Given the description of an element on the screen output the (x, y) to click on. 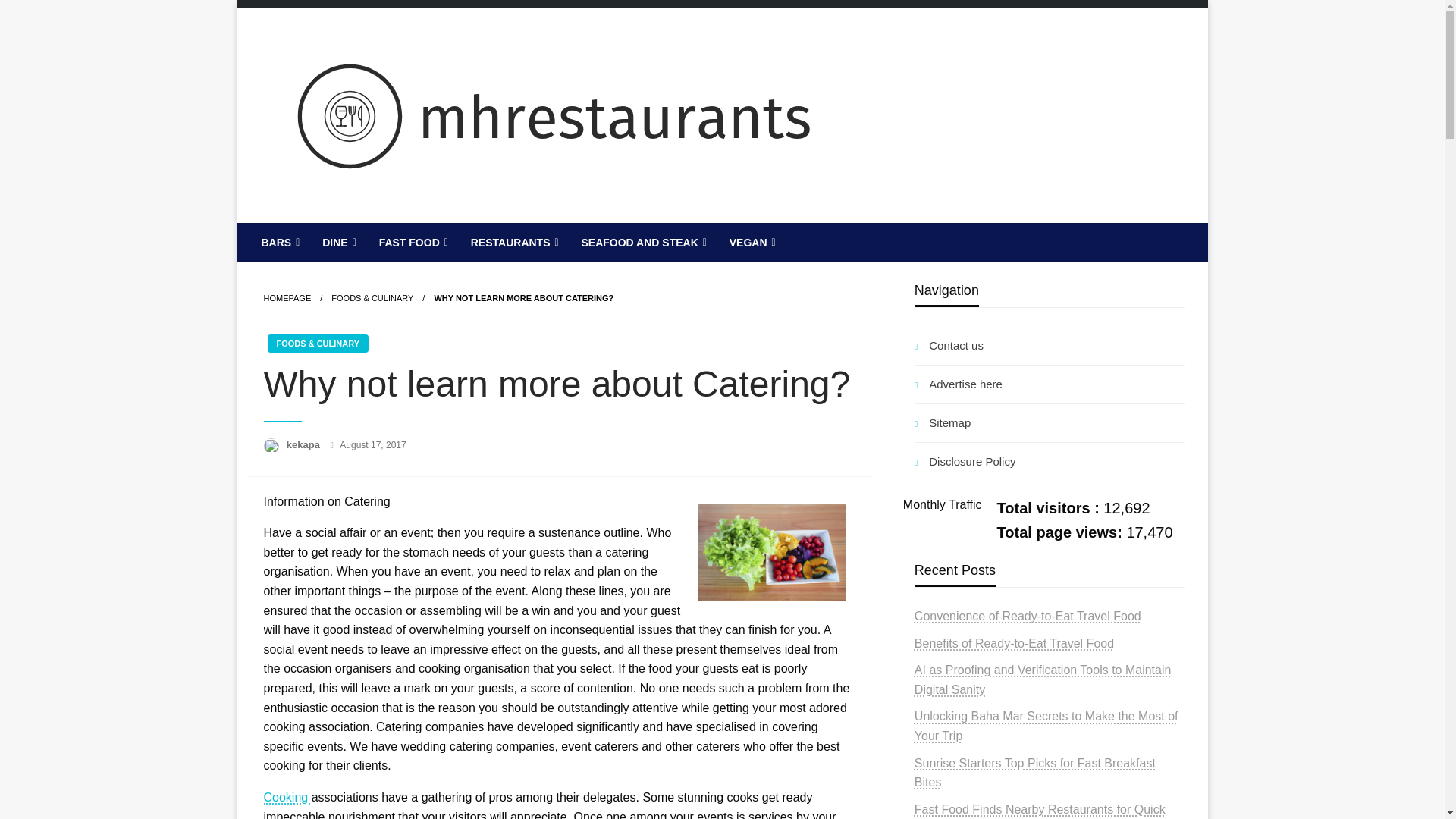
FAST FOOD (412, 242)
VEGAN (751, 242)
DINE (336, 242)
MHRESTAURANTS (398, 234)
HOMEPAGE (287, 297)
kekapa (304, 444)
RESTAURANTS (513, 242)
SEAFOOD AND STEAK (642, 242)
BARS (279, 242)
Why not learn more about  Catering? (522, 297)
Homepage (287, 297)
